Given the description of an element on the screen output the (x, y) to click on. 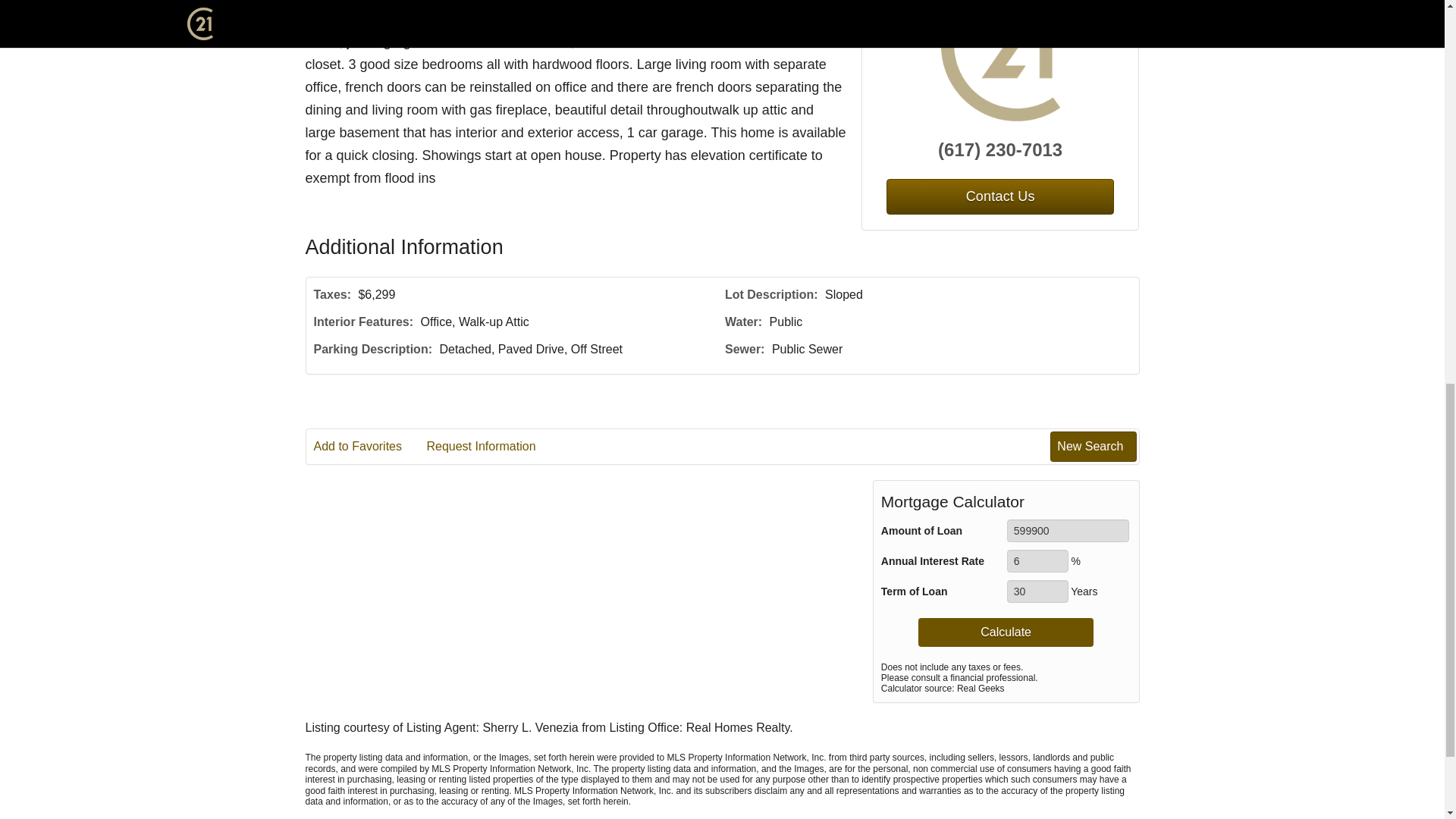
6 (1037, 560)
Contact Us (999, 196)
30 (1037, 590)
599900 (1068, 530)
